Given the description of an element on the screen output the (x, y) to click on. 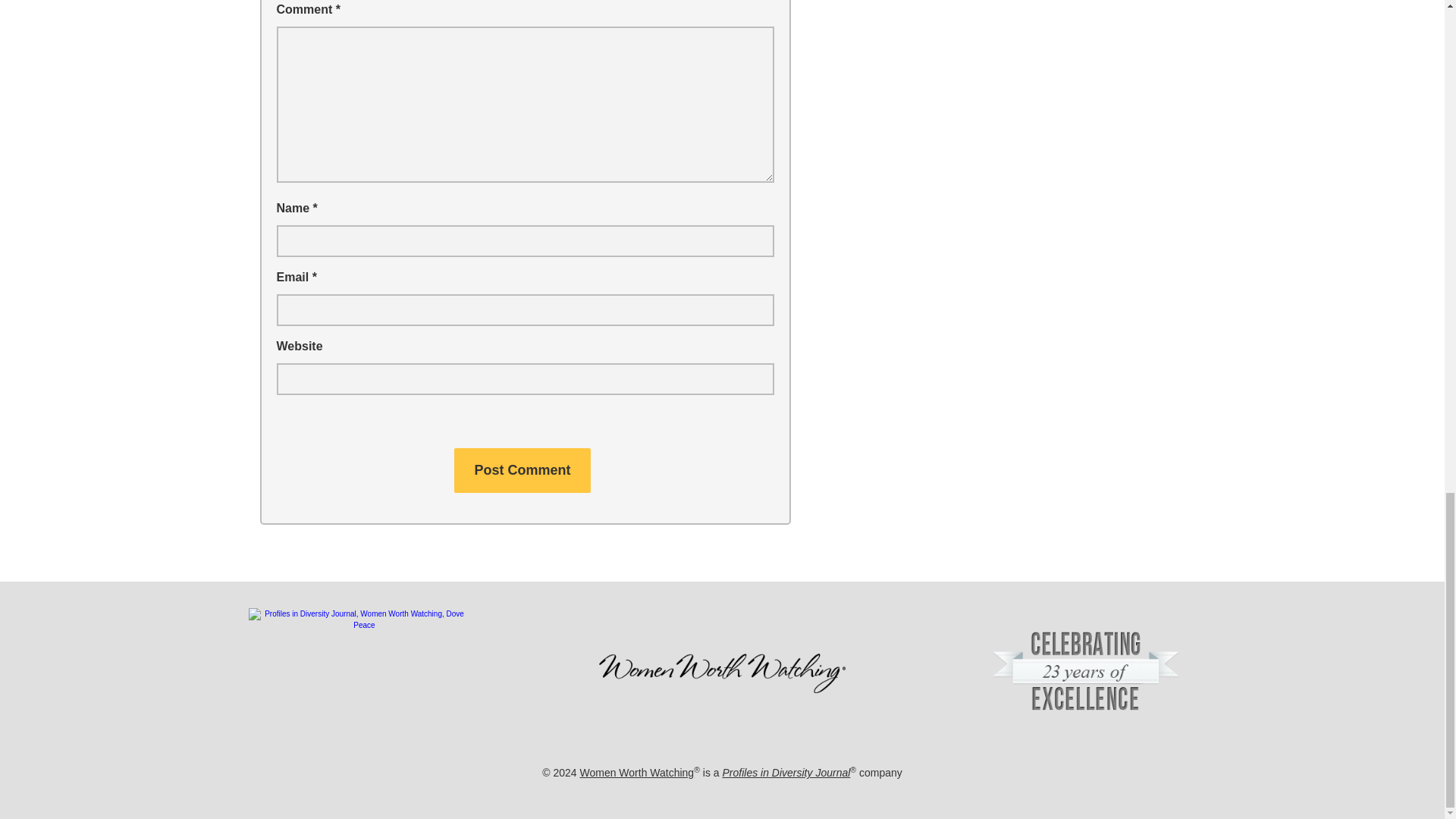
Post Comment (521, 470)
